Given the description of an element on the screen output the (x, y) to click on. 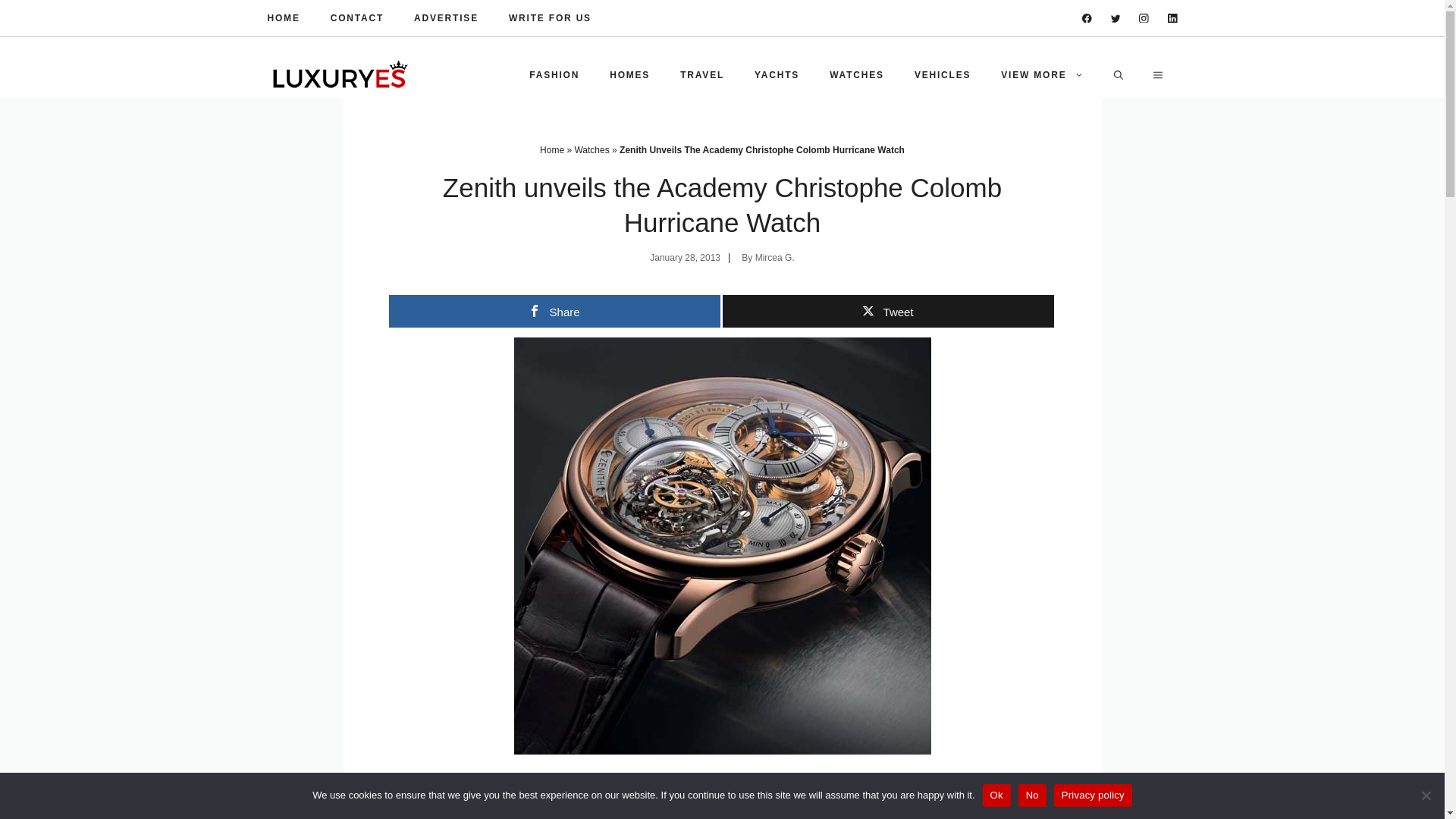
Zenith (525, 784)
WATCHES (856, 74)
WRITE FOR US (549, 18)
Mircea G. (774, 257)
Watches (590, 149)
Home (552, 149)
VEHICLES (942, 74)
CONTACT (357, 18)
ADVERTISE (446, 18)
No (1425, 795)
